Given the description of an element on the screen output the (x, y) to click on. 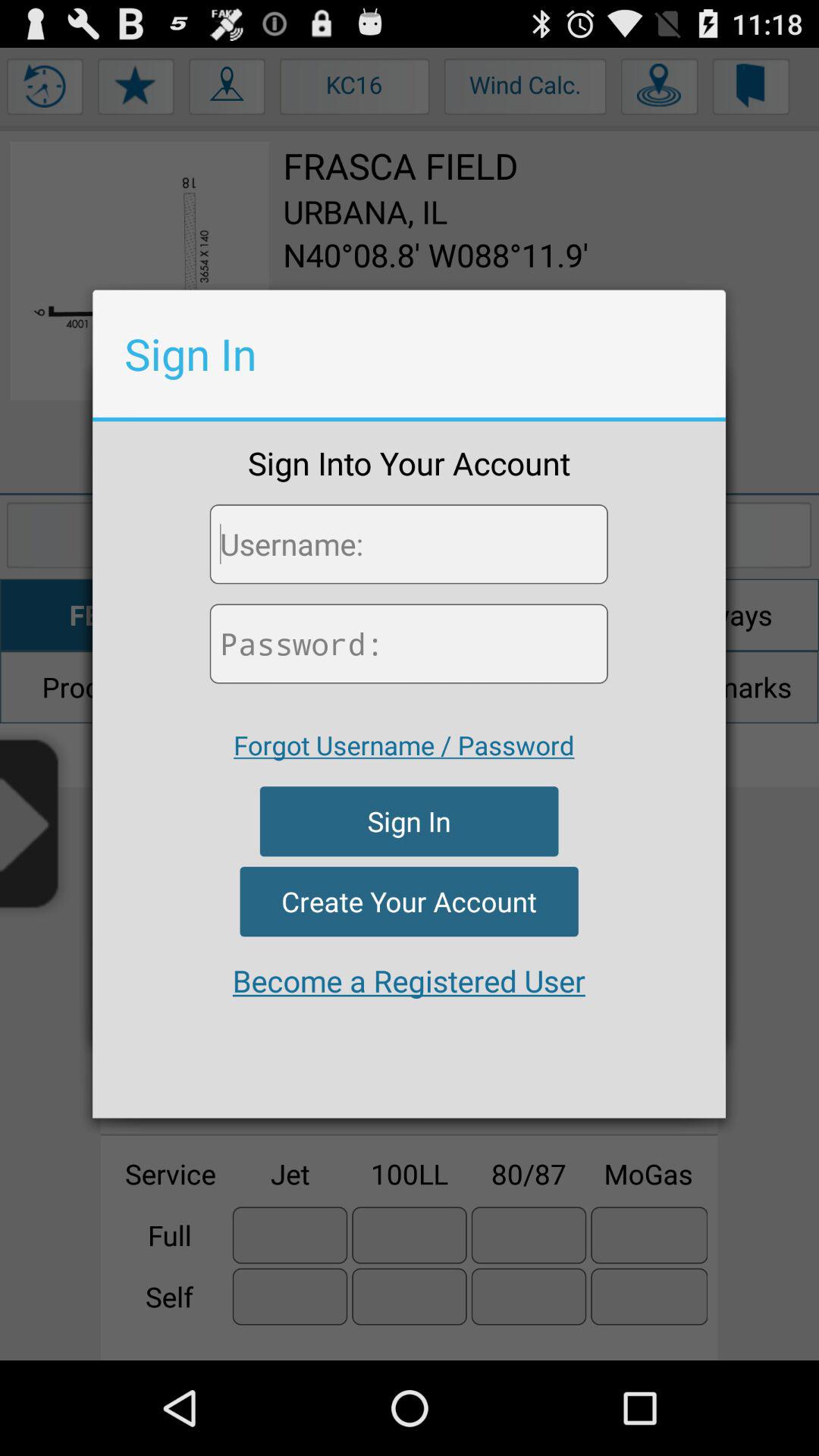
jump to forgot username / password icon (403, 744)
